Given the description of an element on the screen output the (x, y) to click on. 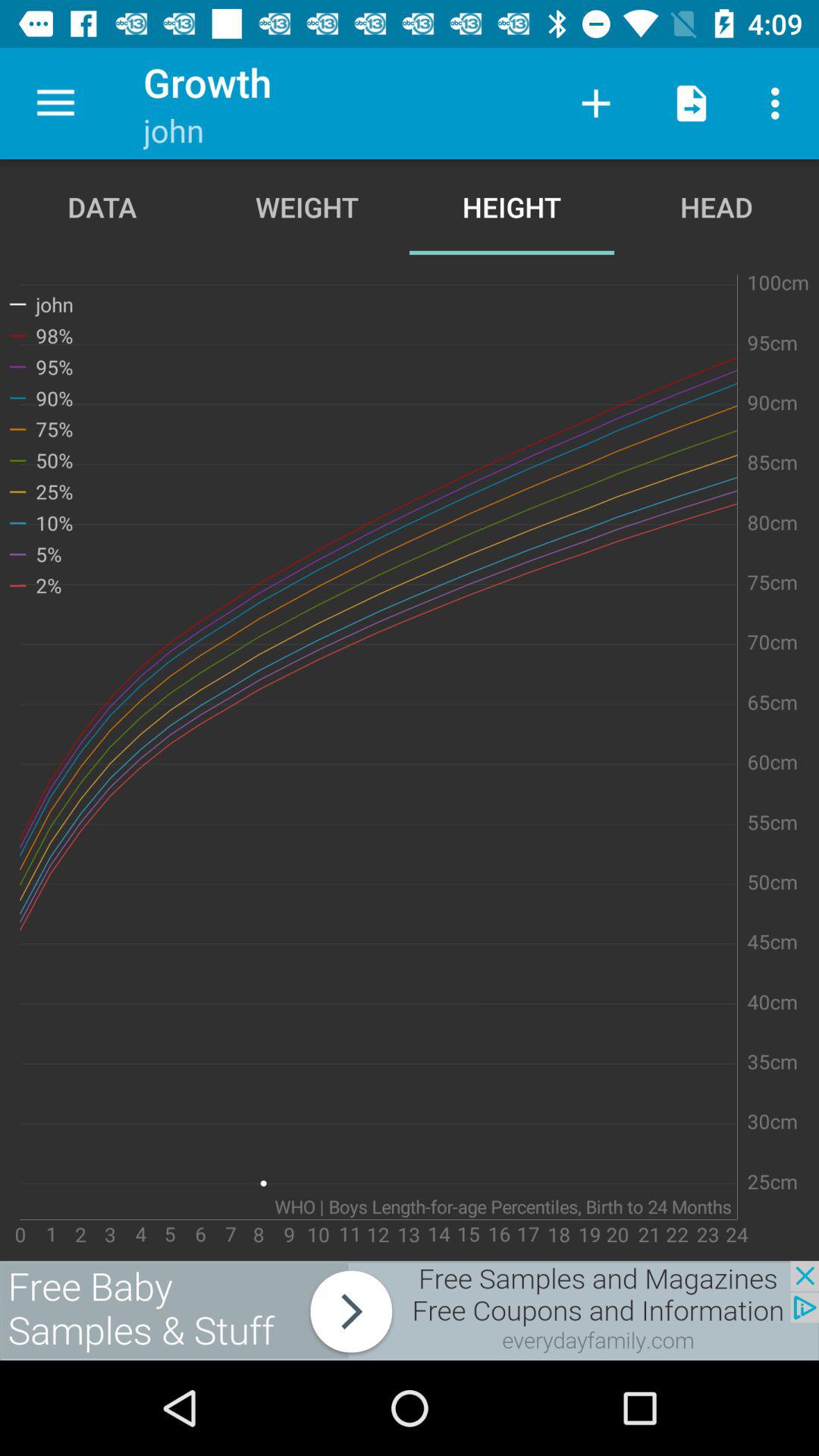
go to advertising partner (409, 1310)
